Given the description of an element on the screen output the (x, y) to click on. 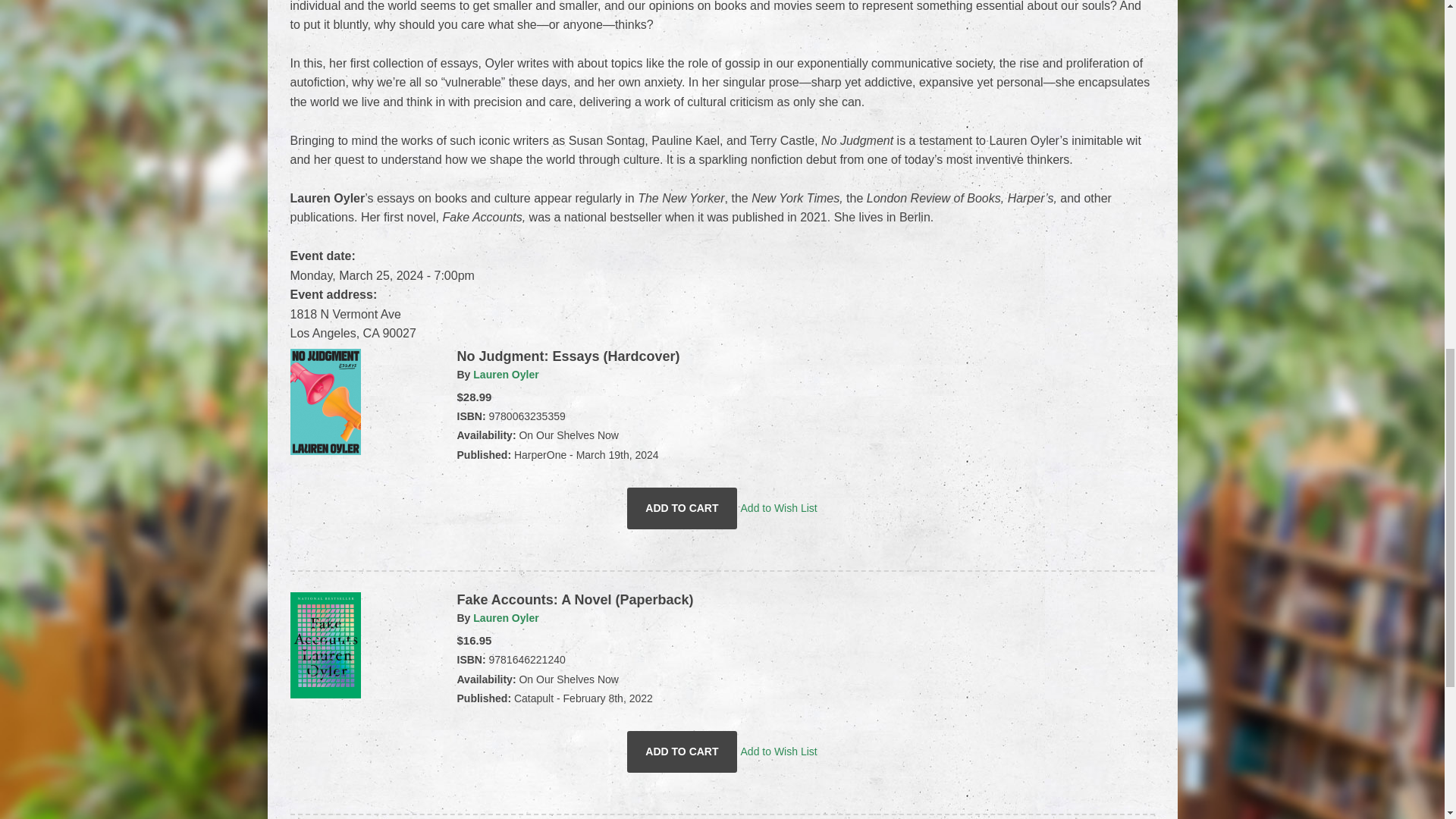
Add to Cart (681, 752)
Add to Cart (681, 508)
